Given the description of an element on the screen output the (x, y) to click on. 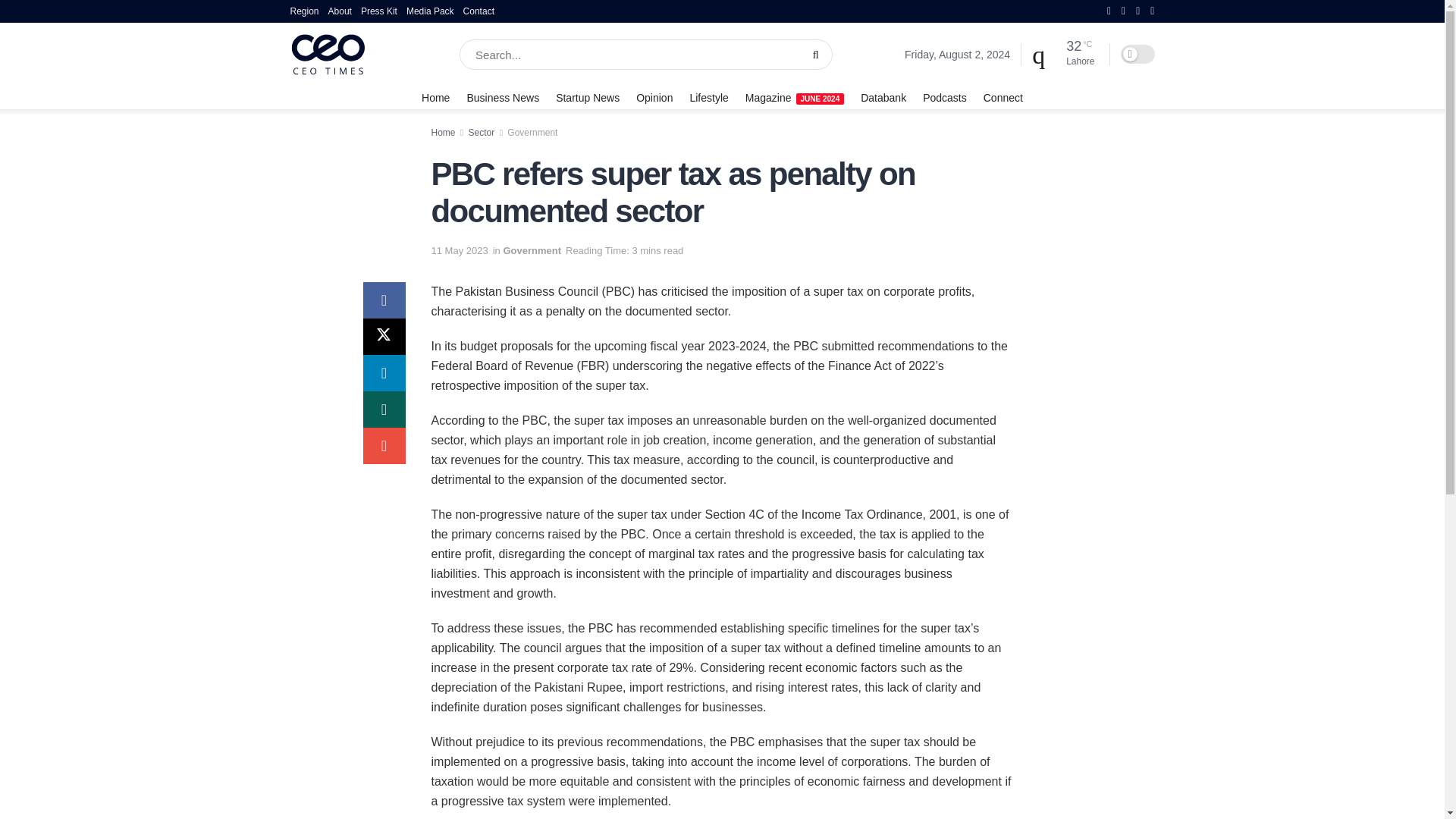
Business News (501, 97)
Databank (882, 97)
Region (303, 11)
Home (435, 97)
About (340, 11)
Lifestyle (708, 97)
Connect (1003, 97)
Media Pack (430, 11)
MagazineJUNE 2024 (794, 97)
Contact (479, 11)
